Given the description of an element on the screen output the (x, y) to click on. 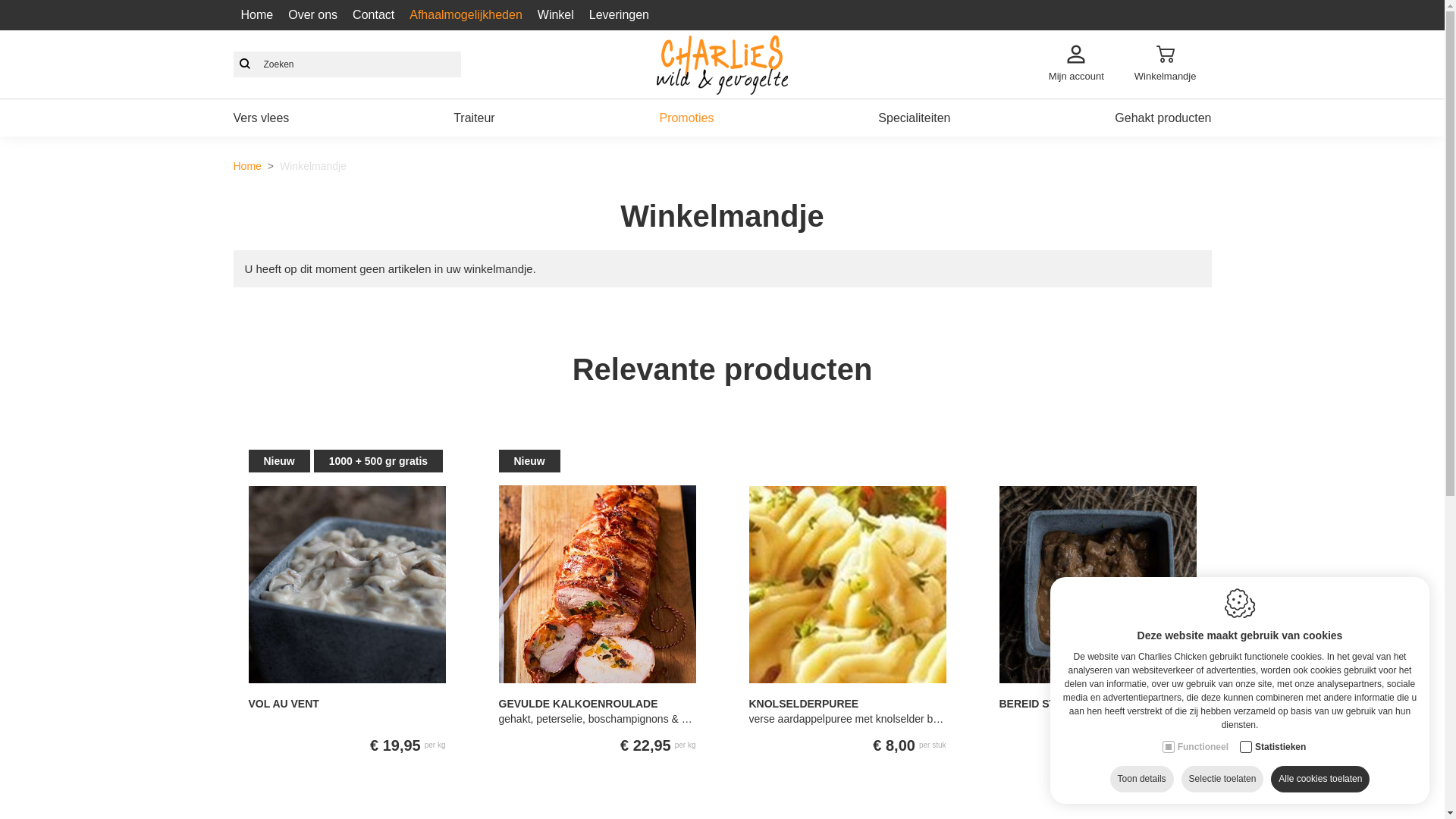
Winkelmandje Element type: text (1165, 64)
Promoties Element type: text (685, 117)
Selectie toelaten Element type: text (1222, 778)
Home Element type: text (257, 15)
Vers vlees Element type: text (261, 117)
Home Element type: text (247, 166)
Specialiteiten Element type: text (914, 117)
Zoeken Element type: hover (244, 64)
Traiteur Element type: text (474, 117)
Alle cookies toelaten Element type: text (1319, 778)
Over ons Element type: text (312, 15)
Winkel Element type: text (555, 15)
Gehakt producten Element type: text (1162, 117)
Mijn account Element type: text (1076, 64)
Leveringen Element type: text (618, 15)
Afhaalmogelijkheden Element type: text (465, 15)
Contact Element type: text (373, 15)
